Given the description of an element on the screen output the (x, y) to click on. 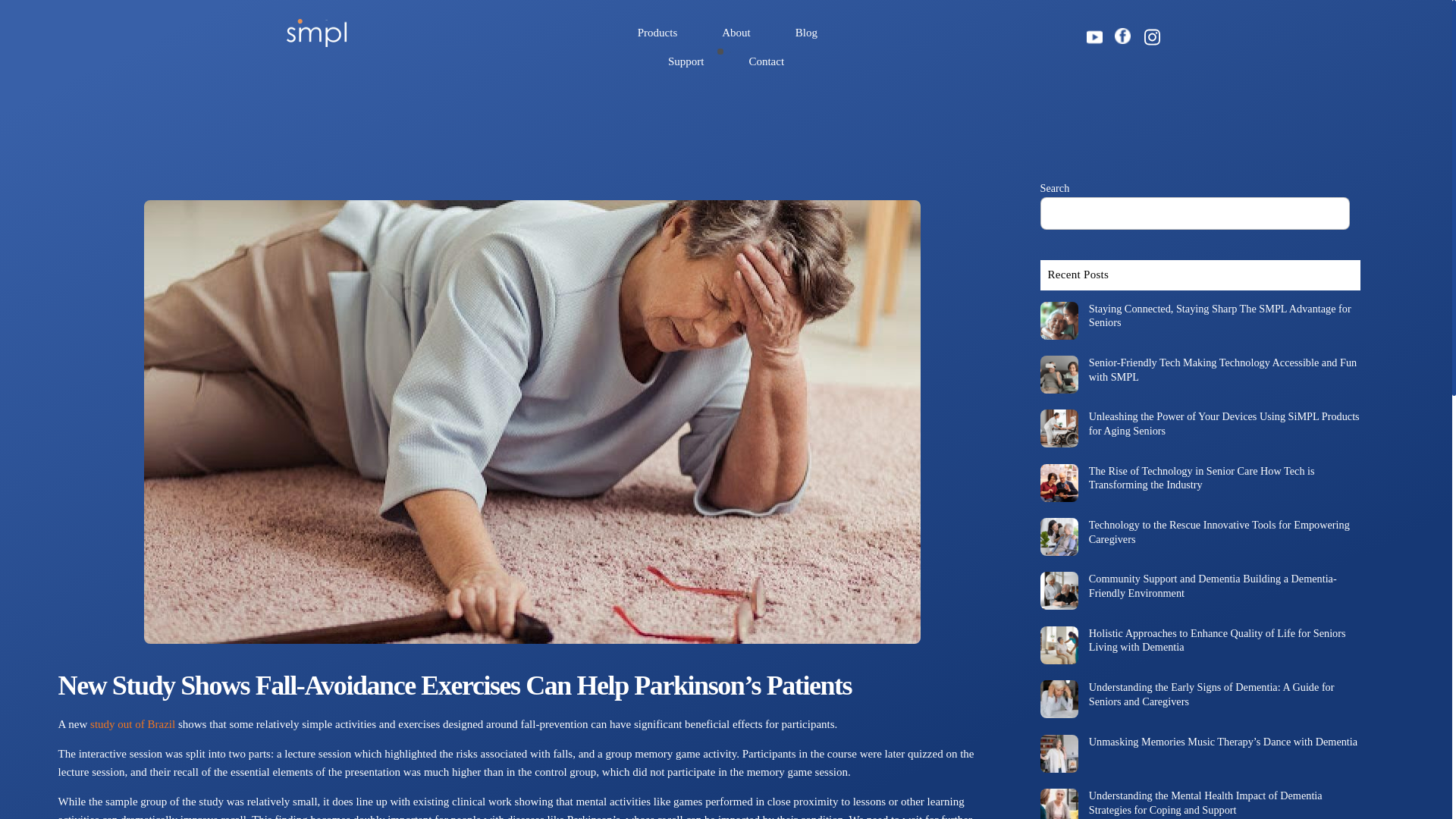
Icon label (1122, 35)
study out of Brazil (132, 724)
About (735, 32)
Contact (766, 61)
Logo-1 (316, 32)
youtube (1094, 36)
Products About Blog Support Contact (726, 47)
Products (657, 32)
Support (685, 61)
